Given the description of an element on the screen output the (x, y) to click on. 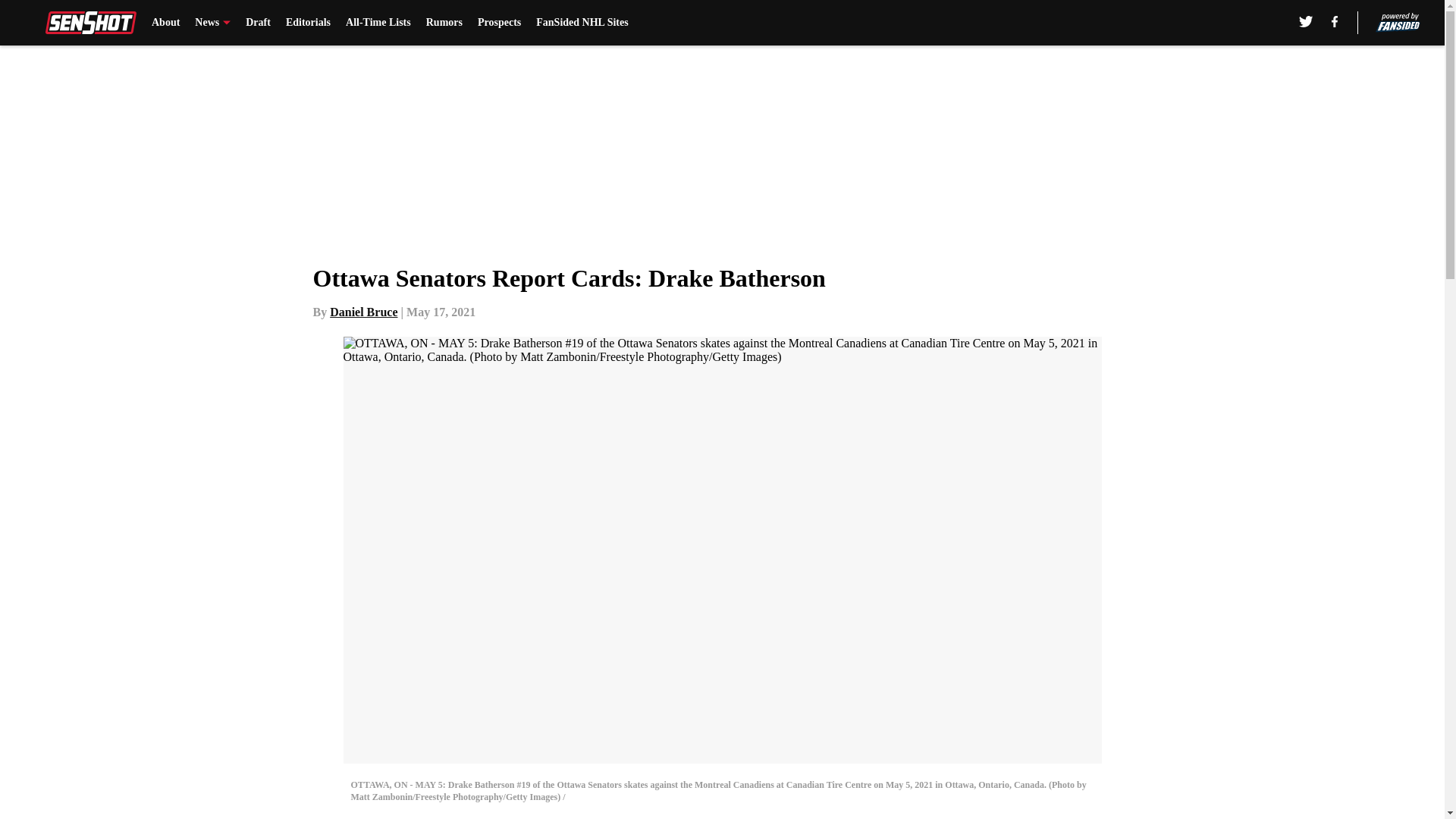
Prospects (499, 22)
All-Time Lists (378, 22)
Editorials (307, 22)
About (165, 22)
Draft (258, 22)
Daniel Bruce (363, 311)
Rumors (444, 22)
FanSided NHL Sites (581, 22)
